Given the description of an element on the screen output the (x, y) to click on. 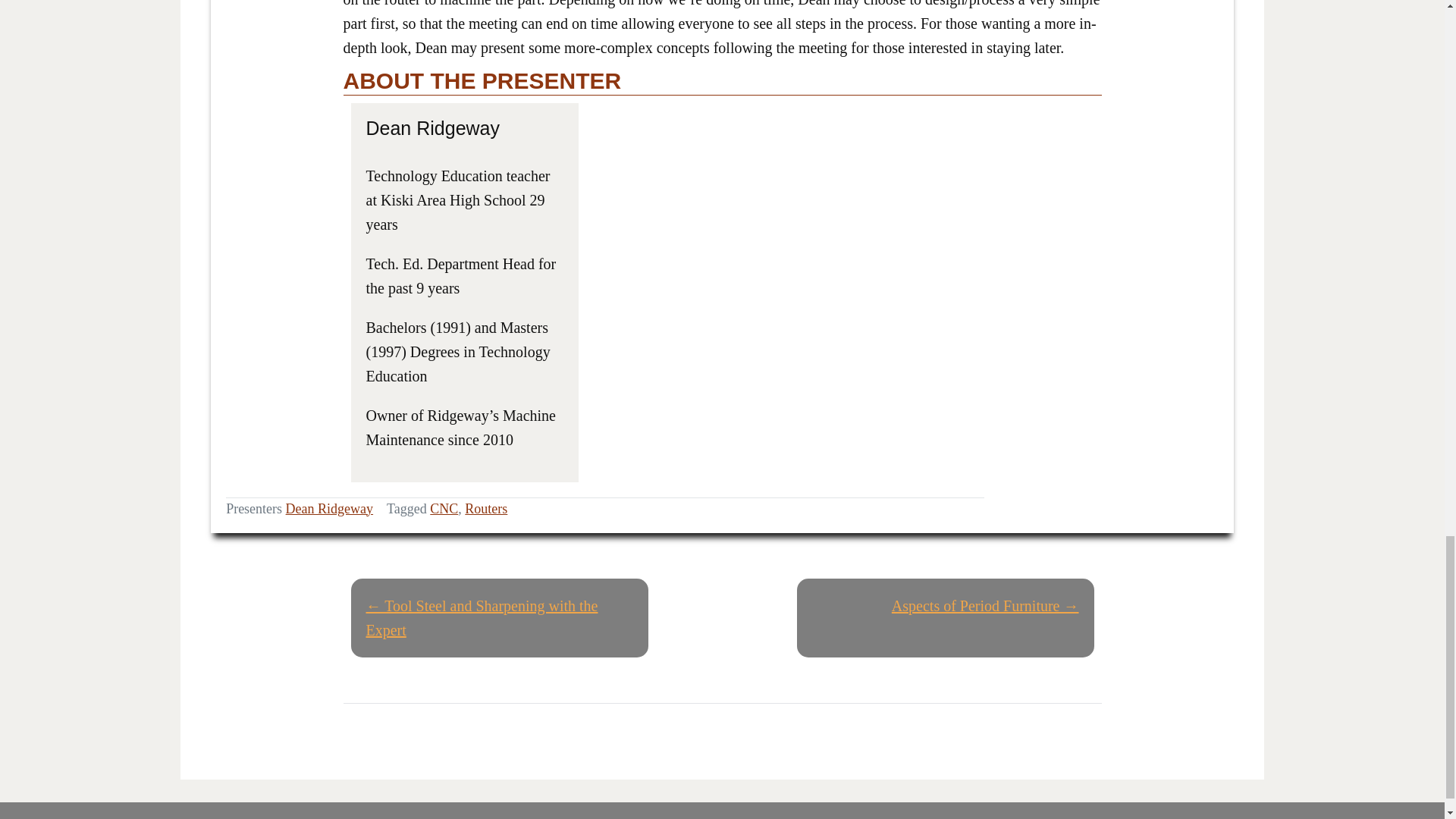
Routers (485, 508)
Dean Ridgeway (328, 508)
CNC (443, 508)
